Given the description of an element on the screen output the (x, y) to click on. 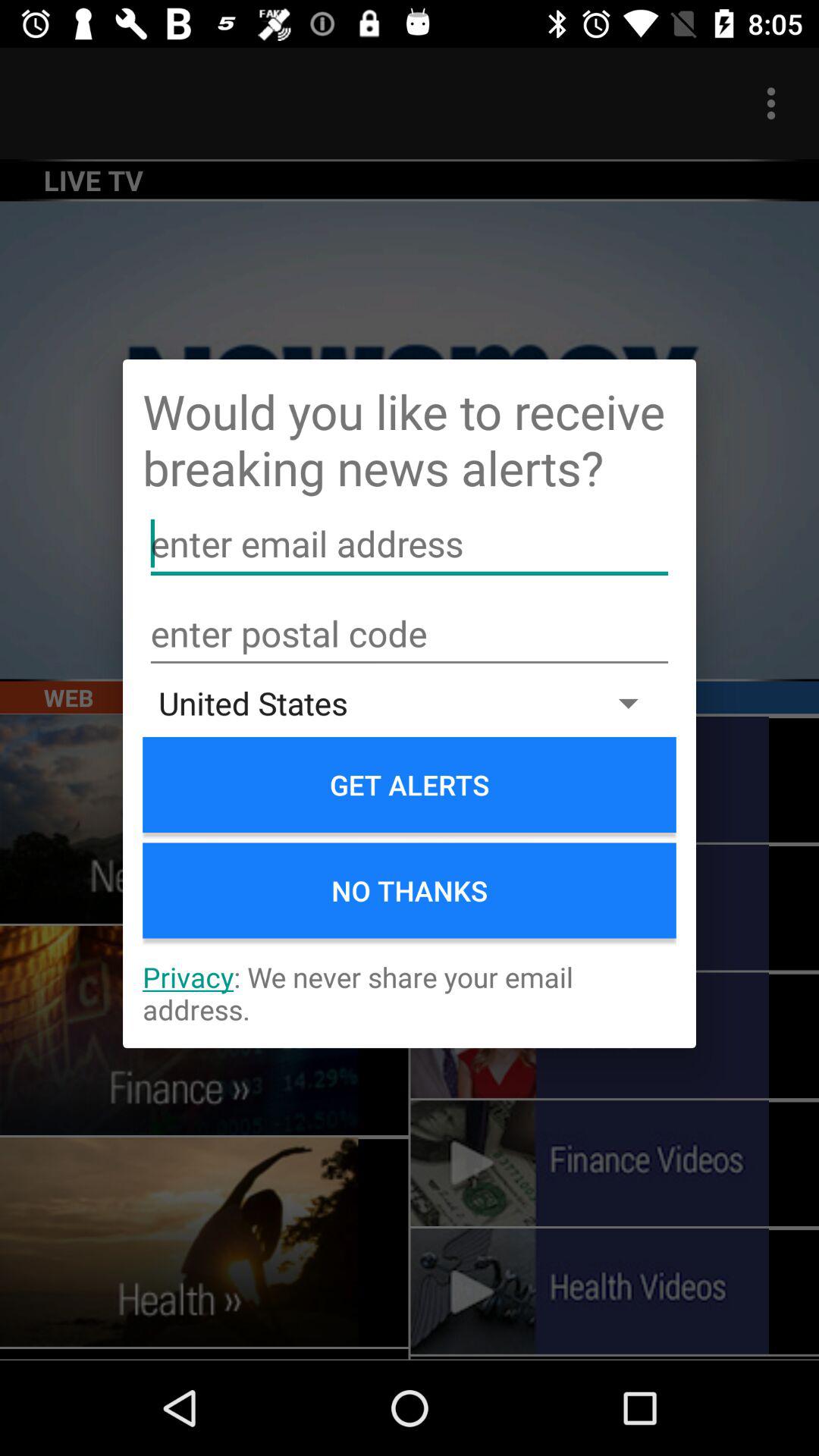
postal code form field (409, 634)
